Given the description of an element on the screen output the (x, y) to click on. 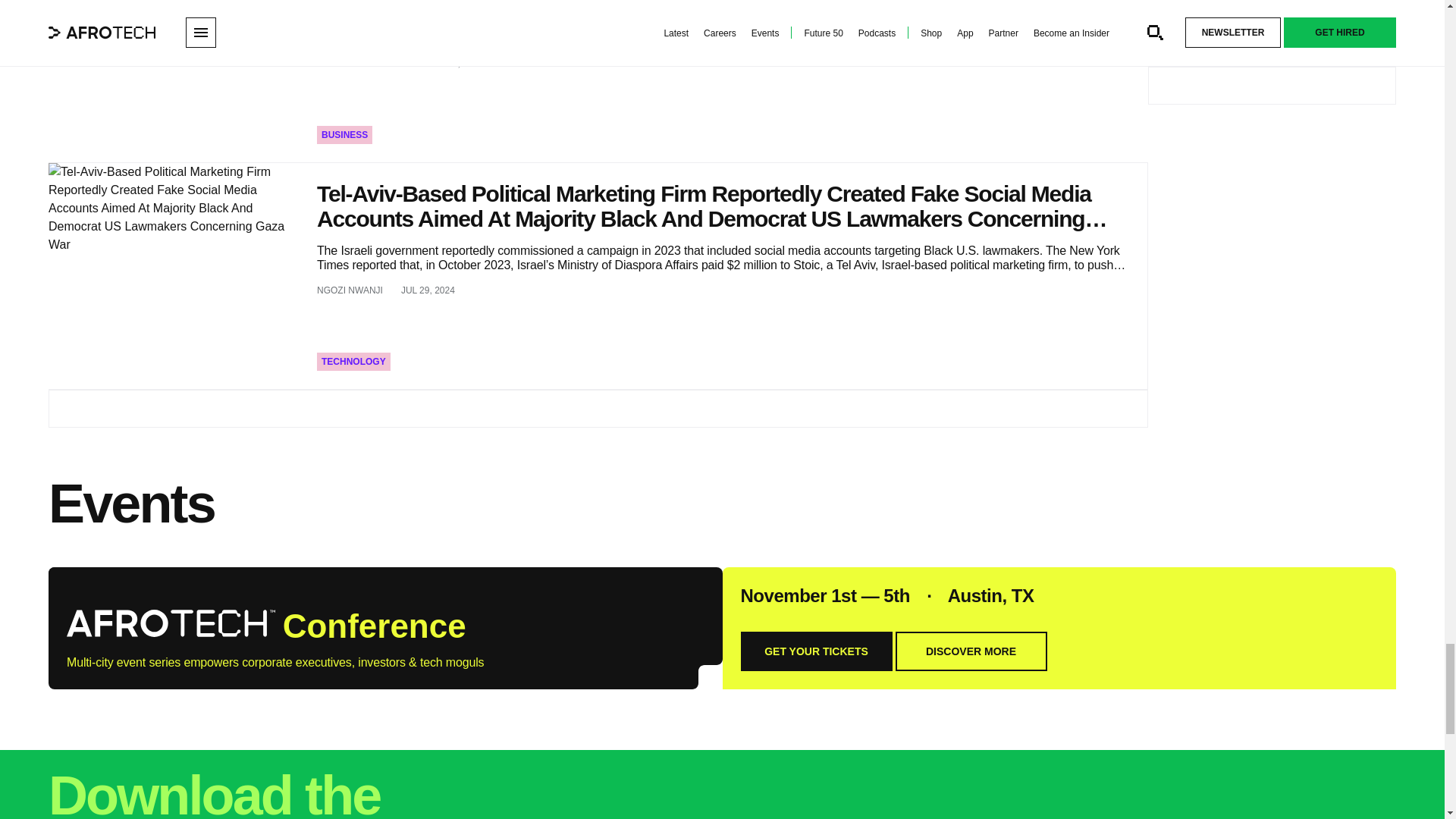
conference (170, 623)
